Given the description of an element on the screen output the (x, y) to click on. 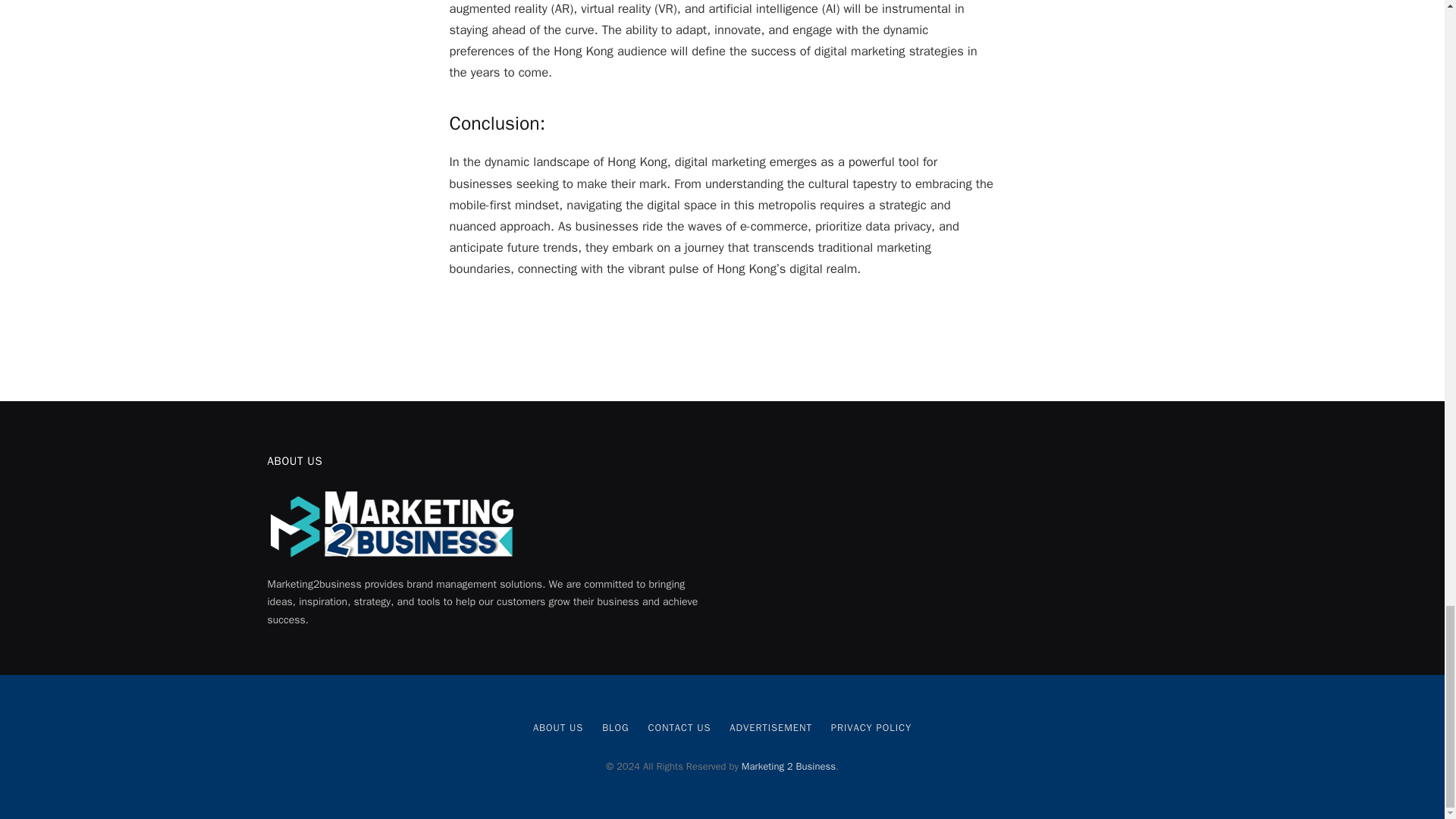
BLOG (615, 727)
ADVERTISEMENT (769, 727)
ABOUT US (557, 727)
CONTACT US (678, 727)
Marketing 2 Business (788, 766)
PRIVACY POLICY (871, 727)
